Given the description of an element on the screen output the (x, y) to click on. 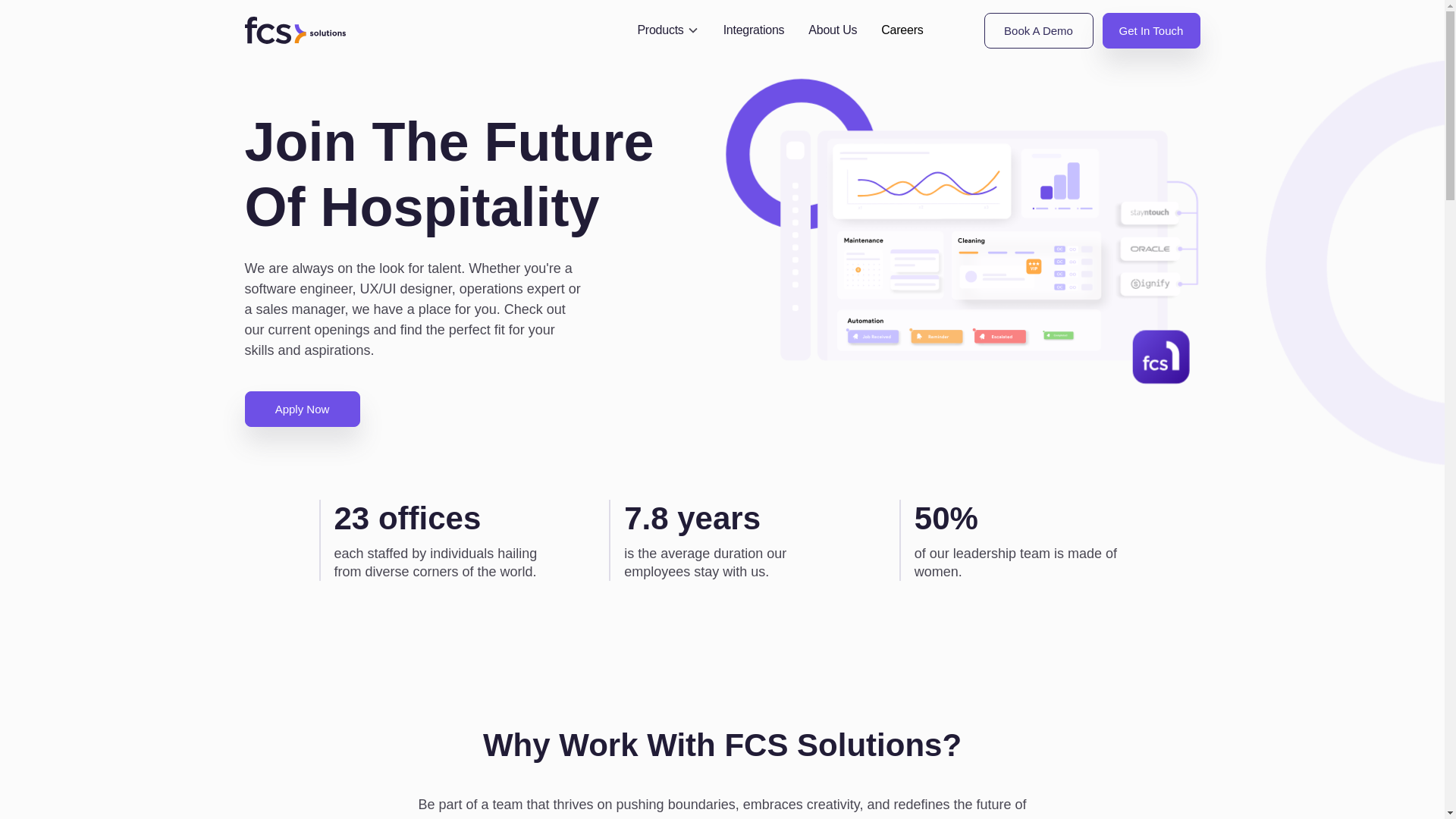
About Us (832, 29)
Apply Now (301, 408)
Careers (901, 29)
Get In Touch (1150, 29)
Integrations (753, 29)
Book A Demo (1038, 29)
